Given the description of an element on the screen output the (x, y) to click on. 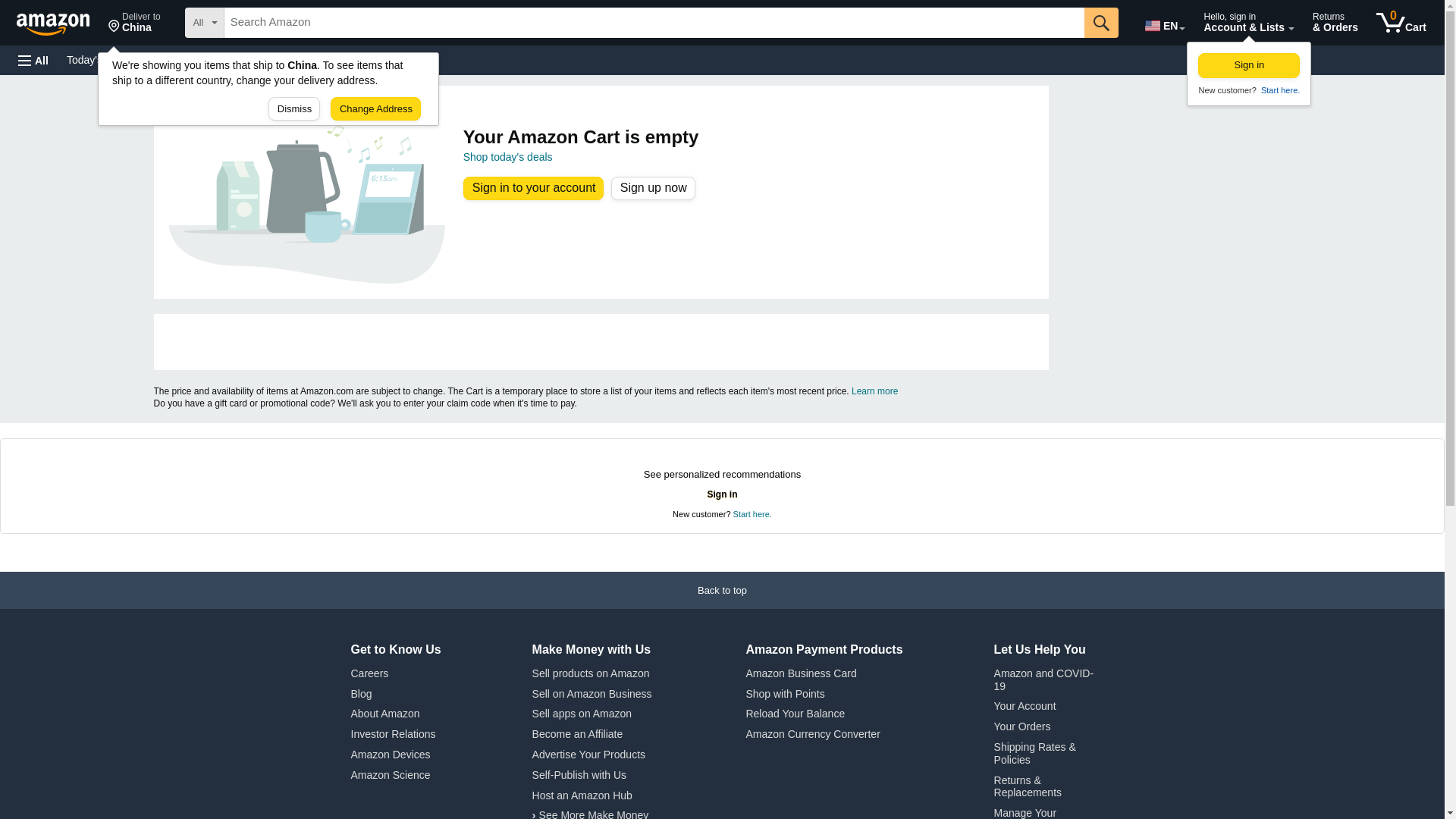
Customer Service (134, 22)
EN (192, 59)
Go (1163, 22)
Registry (1101, 22)
Today's Deals (272, 59)
Skip to main content (99, 59)
Gift Cards (60, 21)
Start here. (333, 59)
Sell (1279, 90)
Sign in (384, 59)
All (1249, 65)
Shop today's deals (33, 60)
Sign in to your account (508, 156)
